Given the description of an element on the screen output the (x, y) to click on. 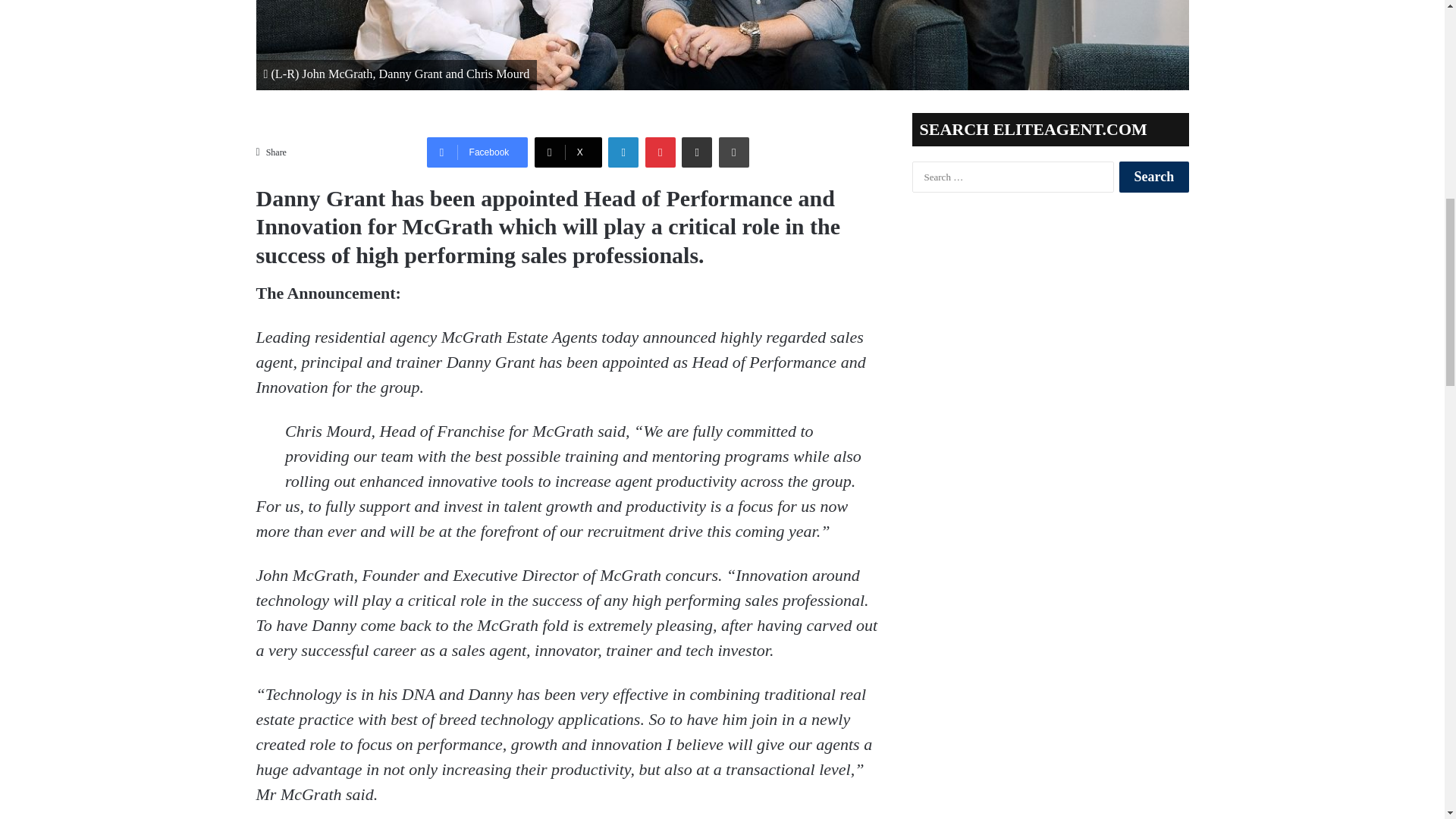
Print (734, 152)
Share via Email (696, 152)
X (568, 152)
Search (1153, 176)
LinkedIn (623, 152)
Facebook (477, 152)
Pinterest (660, 152)
Search (1153, 176)
